Given the description of an element on the screen output the (x, y) to click on. 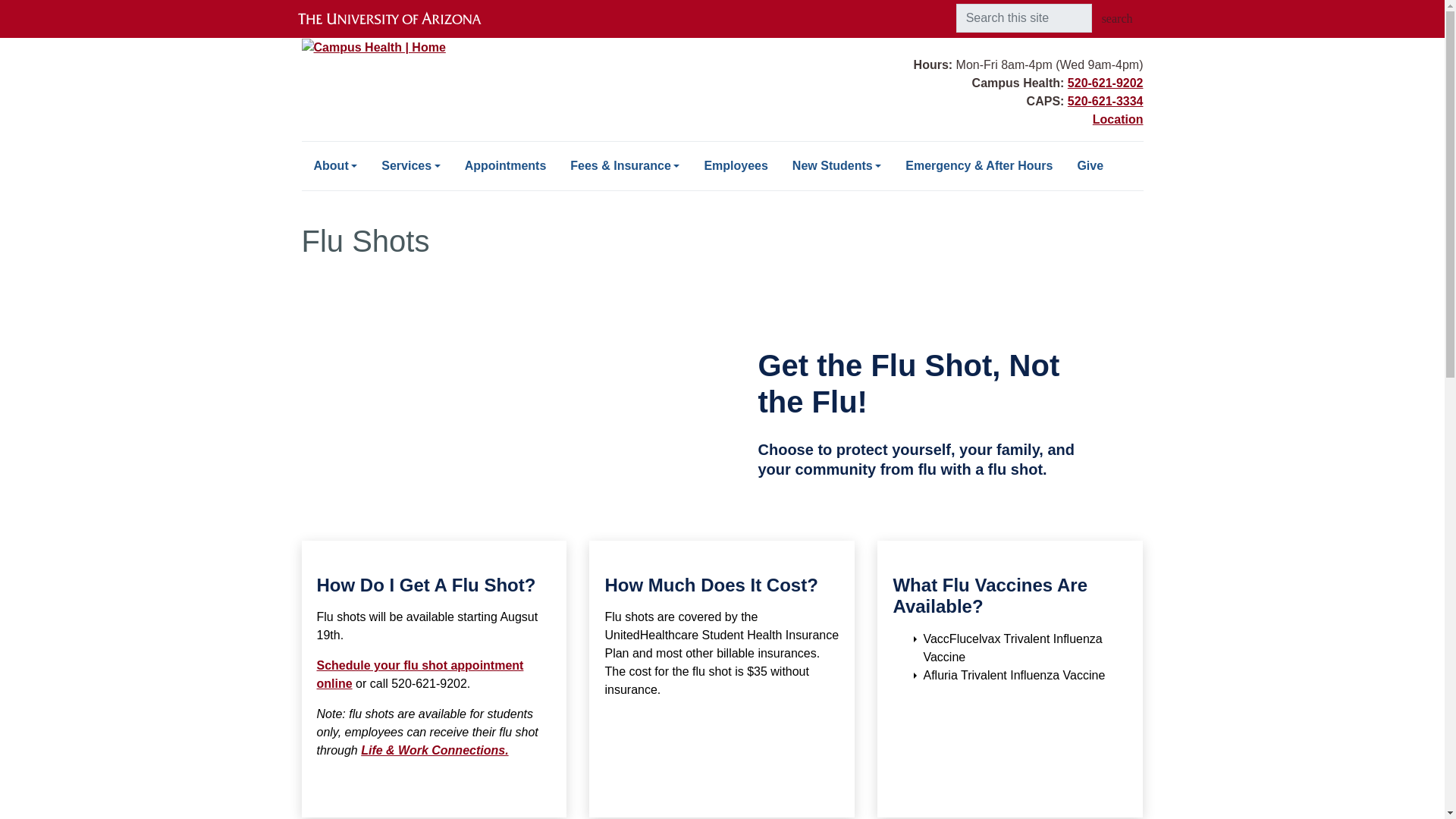
About (335, 165)
search (1116, 19)
The University of Arizona homepage (401, 18)
Enter the terms you wish to search for. (1024, 18)
Skip to main content (721, 1)
Location (1117, 119)
520-621-9202 (1104, 82)
520-621-3334 (1104, 101)
Services (410, 165)
